Given the description of an element on the screen output the (x, y) to click on. 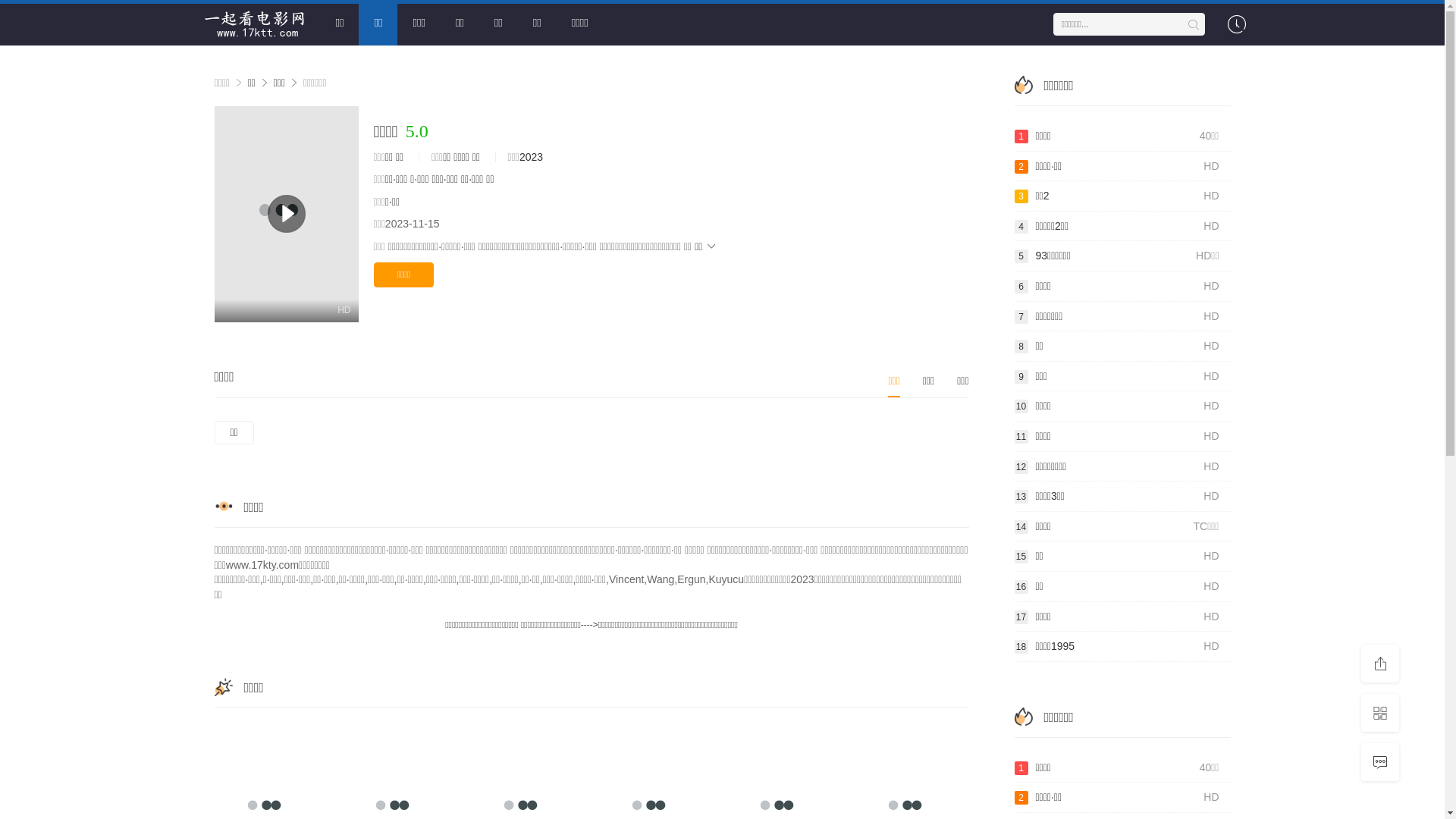
2023 Element type: text (530, 156)
HD Element type: text (285, 214)
